Given the description of an element on the screen output the (x, y) to click on. 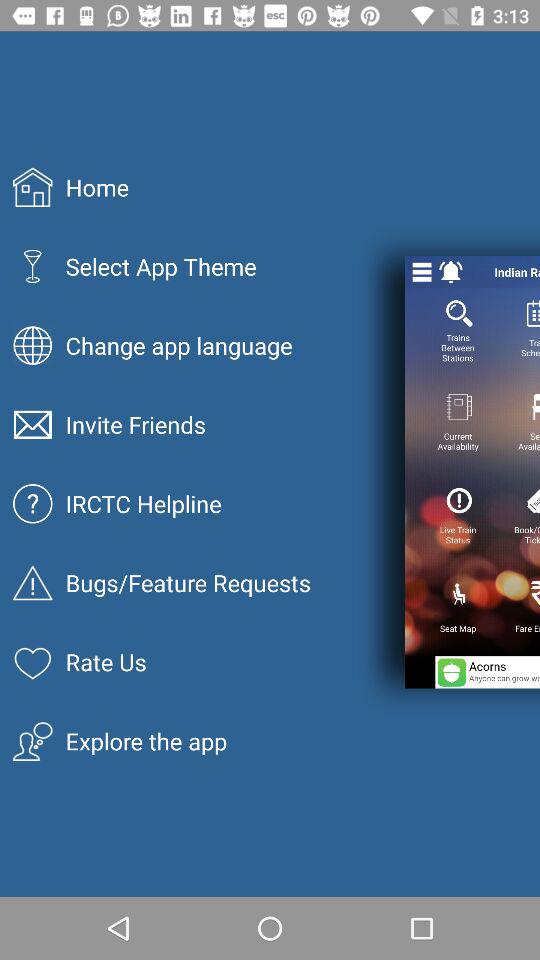
go to settings (422, 271)
